Given the description of an element on the screen output the (x, y) to click on. 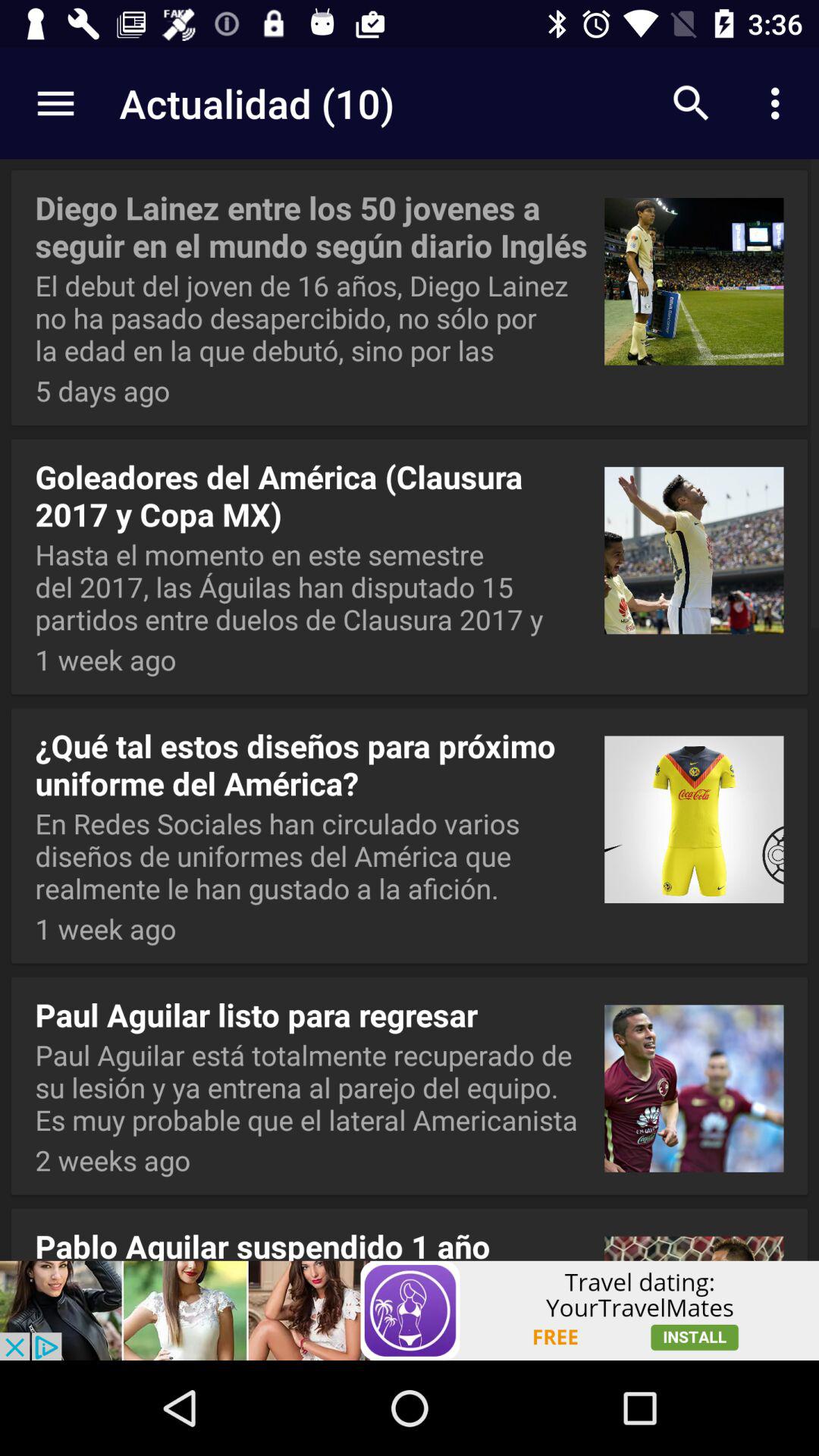
click on yourtravelmates advertisement (409, 1310)
